Given the description of an element on the screen output the (x, y) to click on. 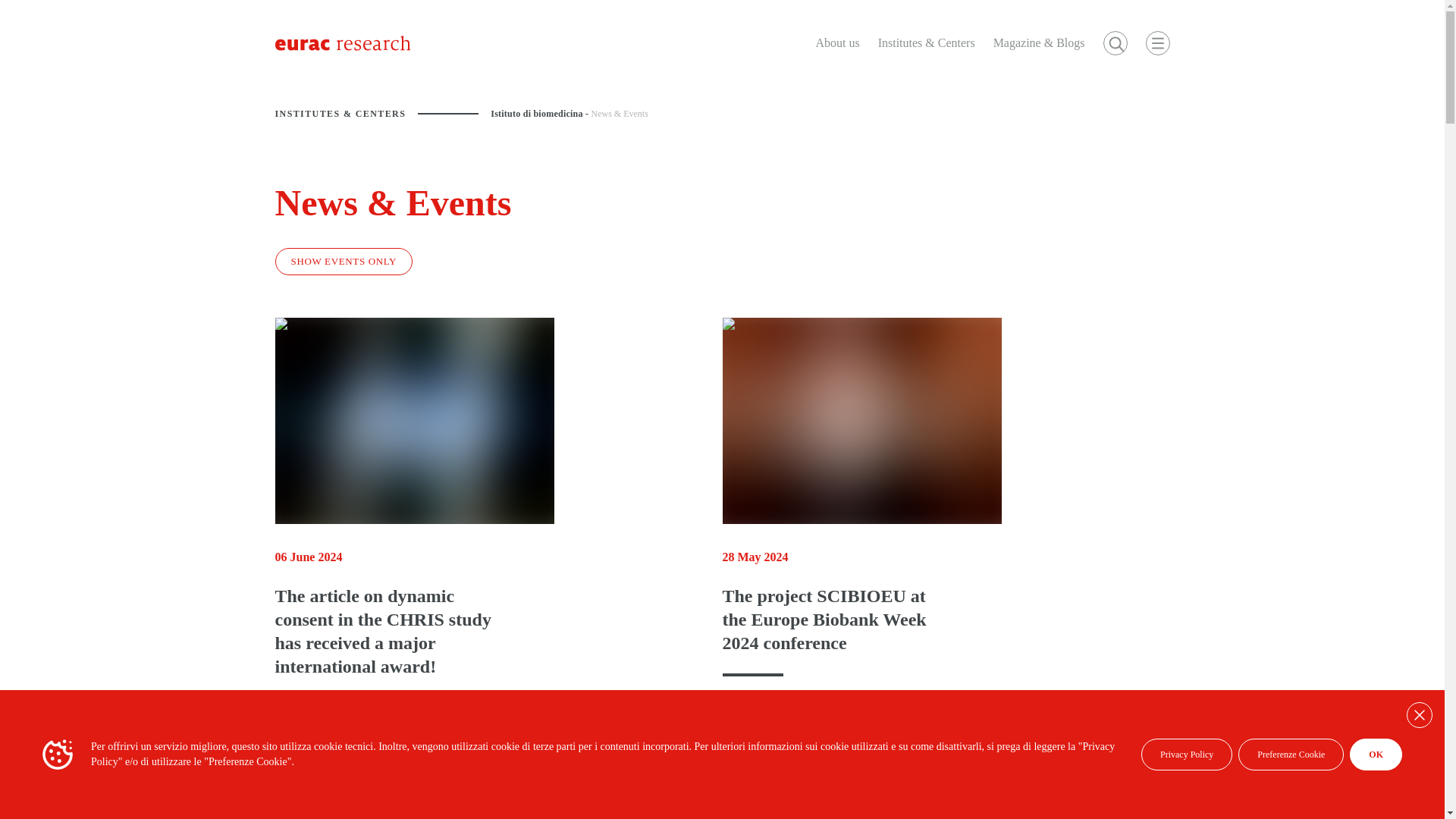
Search (1114, 43)
Institute (312, 777)
Research Field (652, 777)
Projects (539, 777)
Publications (1028, 777)
About us (837, 43)
cookie (57, 754)
Istituto di biomedicina - (540, 113)
SHOW EVENTS ONLY (343, 261)
open navigation (1156, 43)
CHRIS (850, 777)
Lab (933, 777)
